Given the description of an element on the screen output the (x, y) to click on. 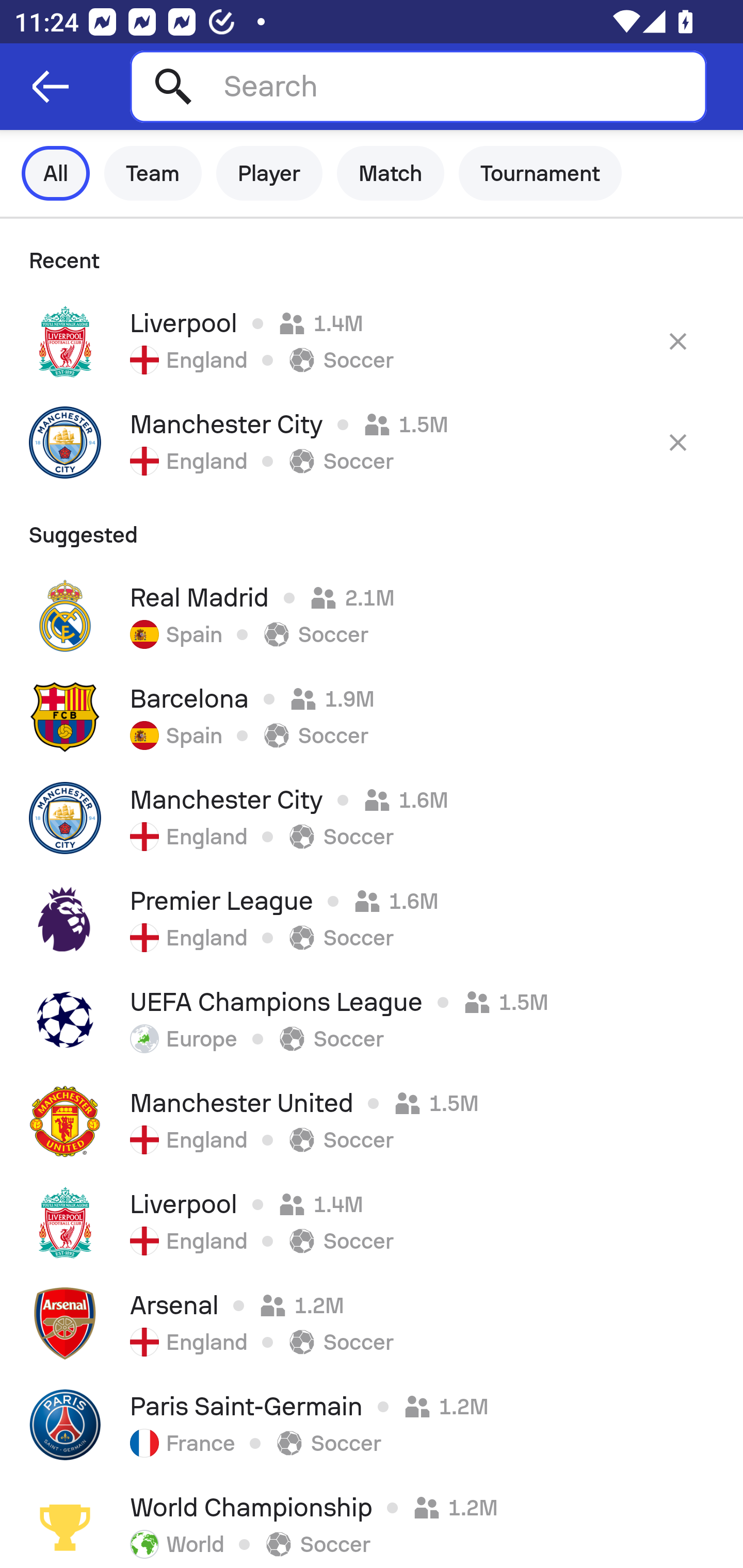
Navigate up (50, 86)
Search (418, 86)
All (55, 172)
Team (152, 172)
Player (268, 172)
Match (390, 172)
Tournament (540, 172)
Recent (371, 254)
Liverpool 1.4M England Soccer (371, 341)
Manchester City 1.5M England Soccer (371, 442)
Suggested (371, 529)
Real Madrid 2.1M Spain Soccer (371, 616)
Barcelona 1.9M Spain Soccer (371, 716)
Manchester City 1.6M England Soccer (371, 817)
Premier League 1.6M England Soccer (371, 918)
UEFA Champions League 1.5M Europe Soccer (371, 1019)
Manchester United 1.5M England Soccer (371, 1120)
Liverpool 1.4M England Soccer (371, 1222)
Arsenal 1.2M England Soccer (371, 1323)
Paris Saint-Germain 1.2M France Soccer (371, 1424)
World Championship 1.2M World Soccer (371, 1521)
